Given the description of an element on the screen output the (x, y) to click on. 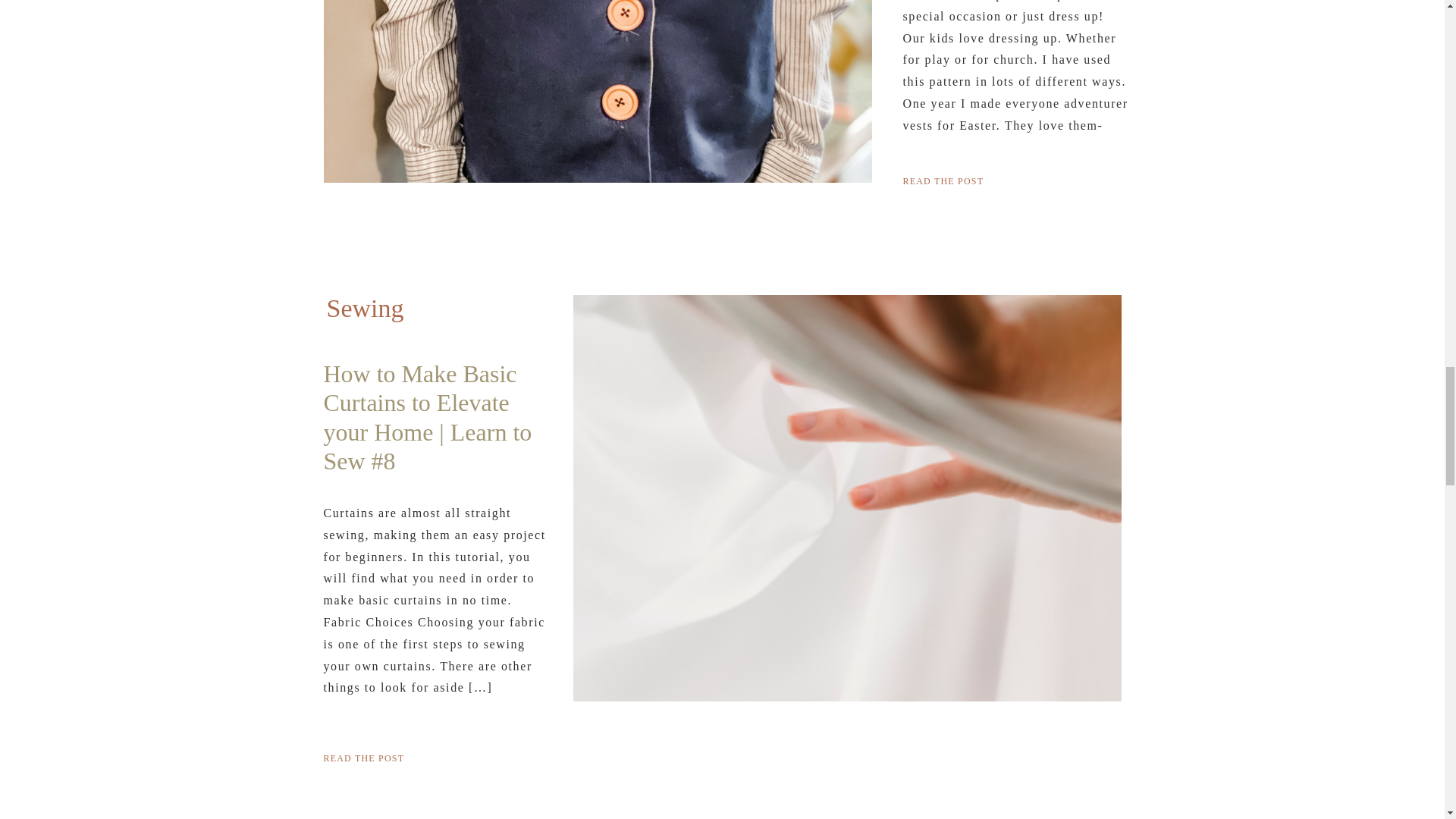
READ THE POST (1018, 179)
